Given the description of an element on the screen output the (x, y) to click on. 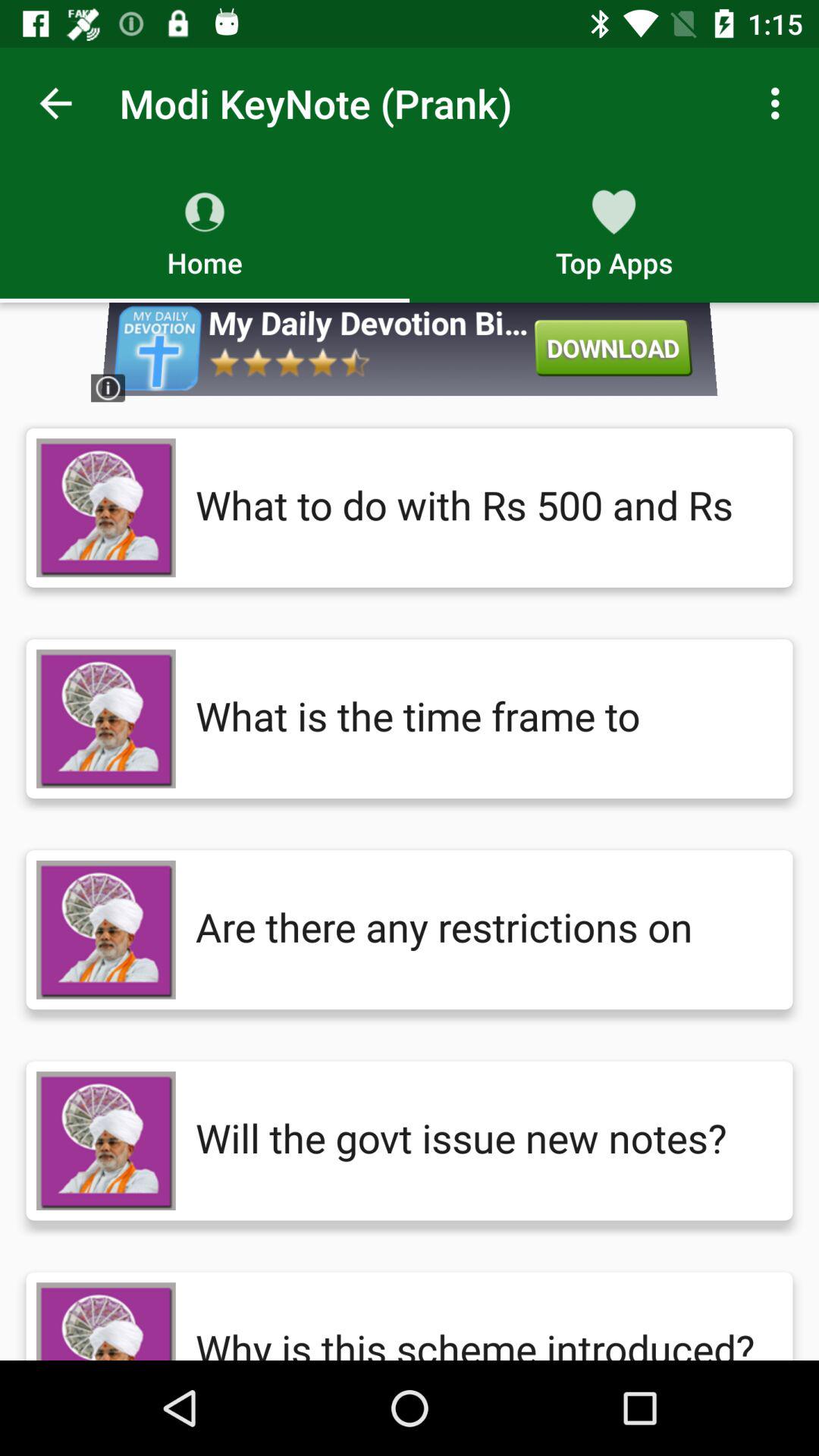
open the item next to the modi keynote (prank) (55, 103)
